Given the description of an element on the screen output the (x, y) to click on. 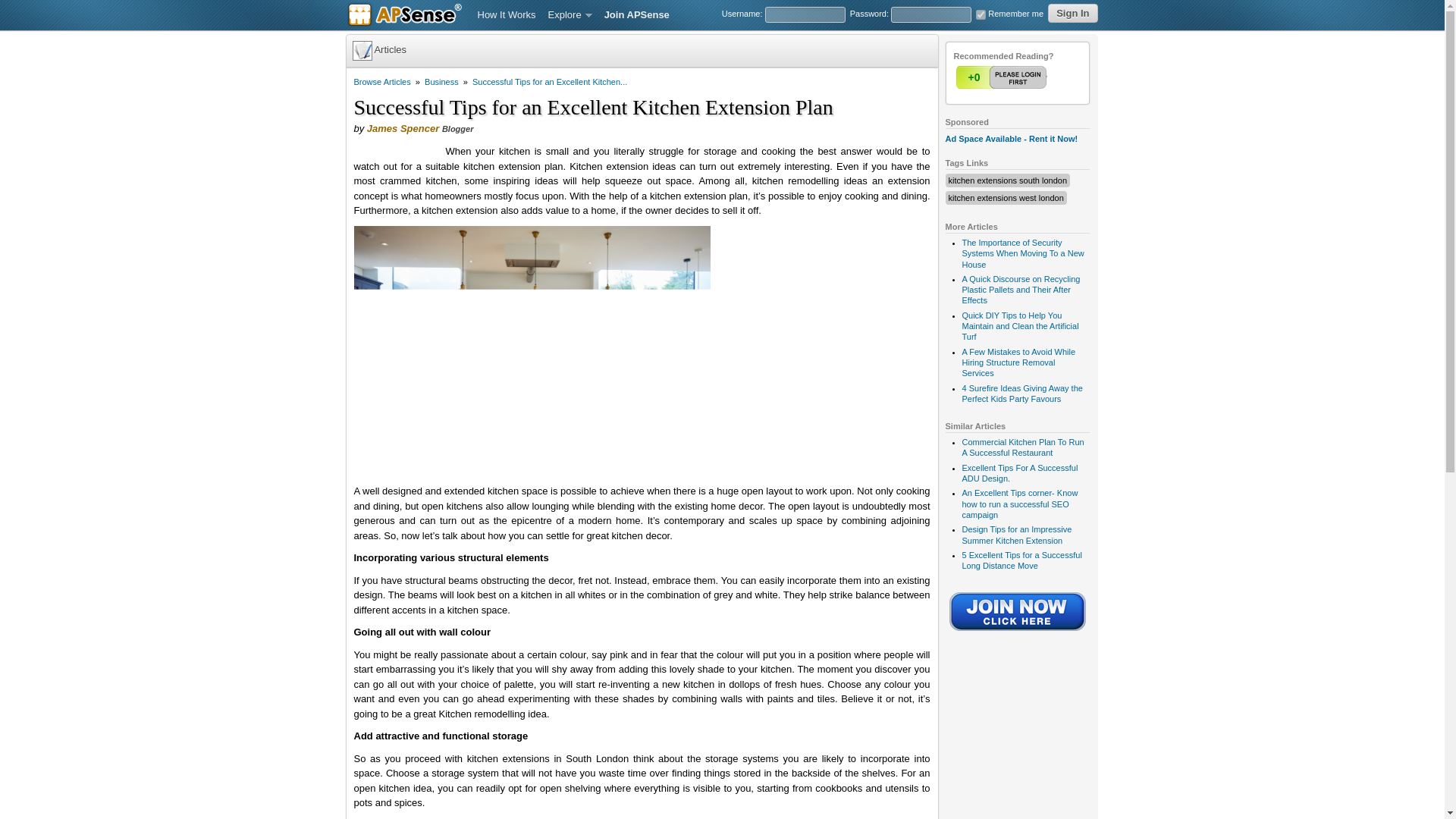
Join APSense (636, 15)
Vote Down (1031, 77)
Ad Space Available - Rent it Now! (1010, 138)
Explore (569, 15)
kitchen extensions west london (1004, 197)
Browse Articles (381, 81)
Commercial Kitchen Plan To Run A Successful Restaurant (1021, 447)
James Spencer (402, 128)
kitchen extensions south london (1007, 180)
